Given the description of an element on the screen output the (x, y) to click on. 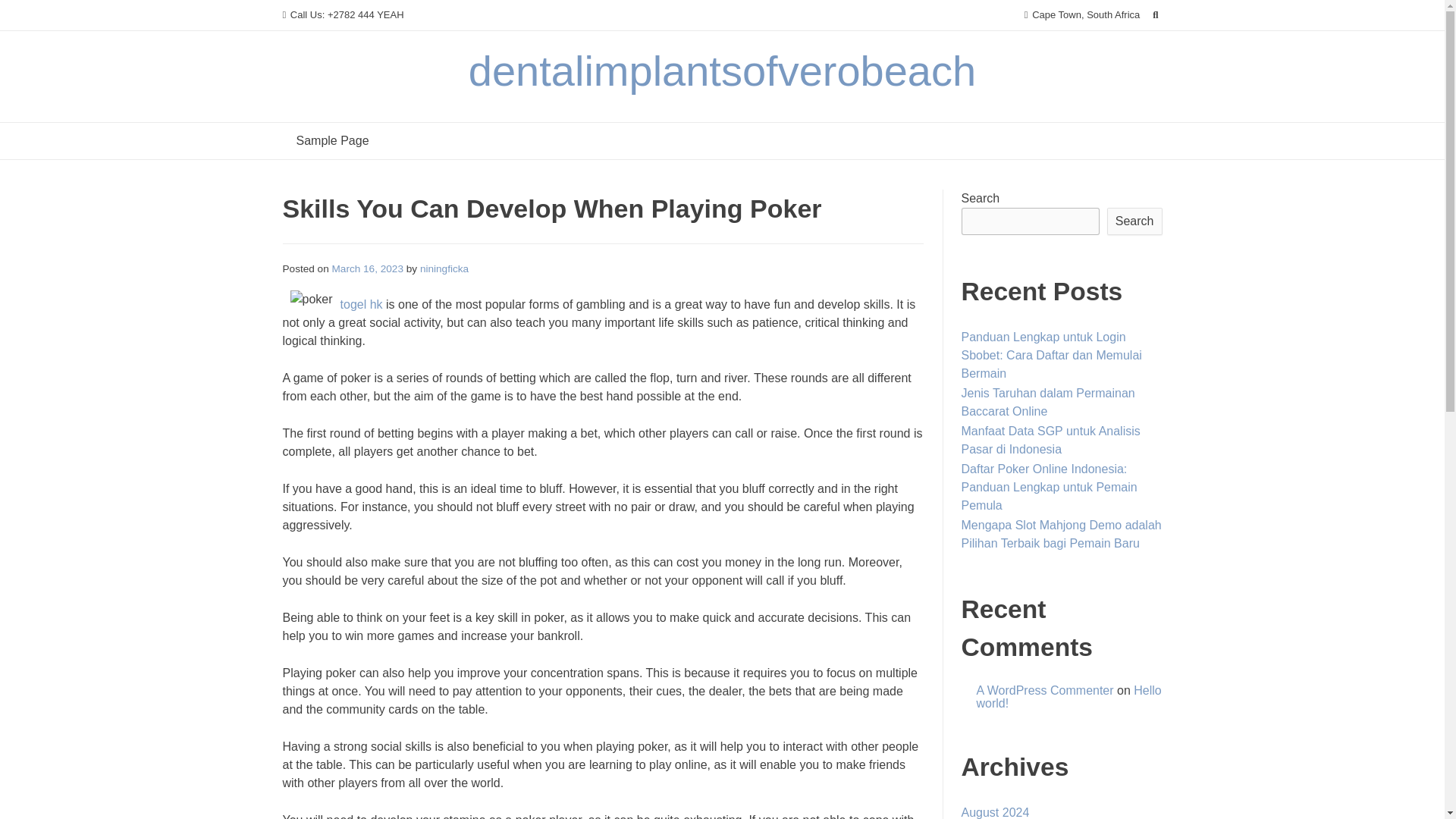
dentalimplantsofverobeach (721, 70)
Search (27, 13)
Sample Page (331, 140)
Manfaat Data SGP untuk Analisis Pasar di Indonesia (1050, 440)
A WordPress Commenter (1044, 689)
togel hk (361, 304)
Search (1133, 221)
niningficka (444, 268)
August 2024 (994, 812)
March 16, 2023 (367, 268)
Jenis Taruhan dalam Permainan Baccarat Online (1047, 401)
Hello world! (1068, 696)
